Given the description of an element on the screen output the (x, y) to click on. 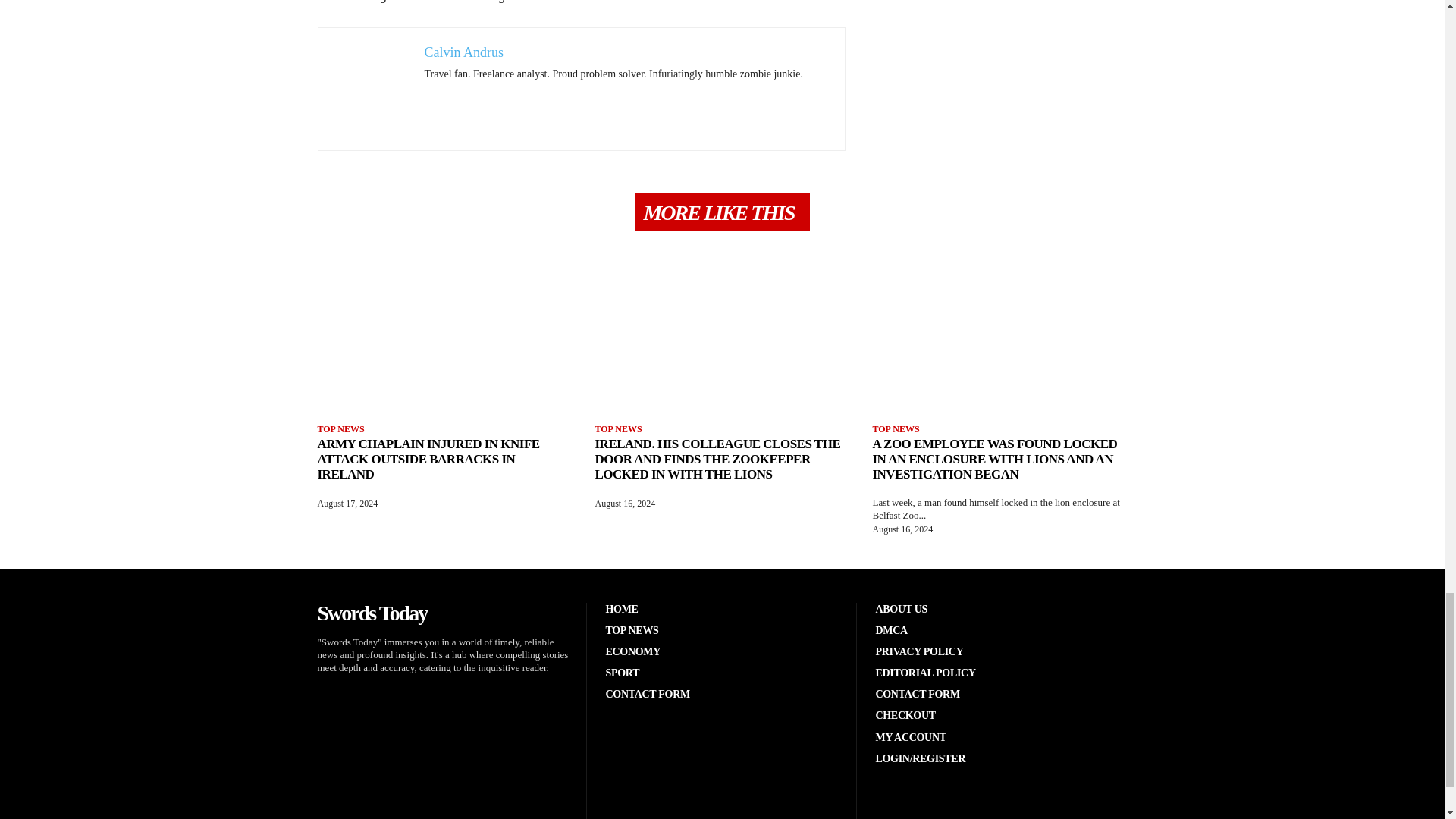
Calvin Andrus (464, 52)
